Given the description of an element on the screen output the (x, y) to click on. 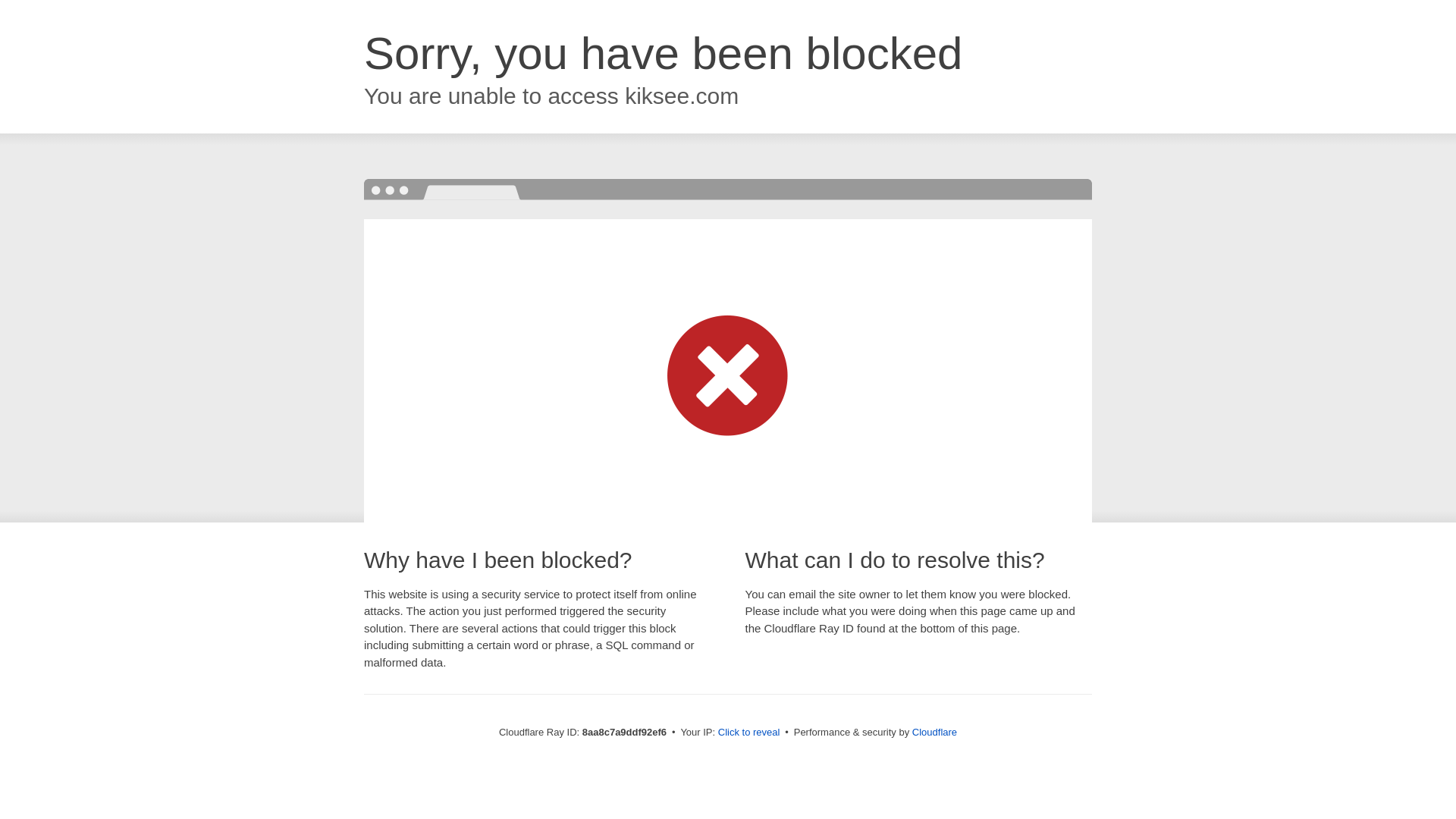
Cloudflare (934, 731)
Click to reveal (748, 732)
